Given the description of an element on the screen output the (x, y) to click on. 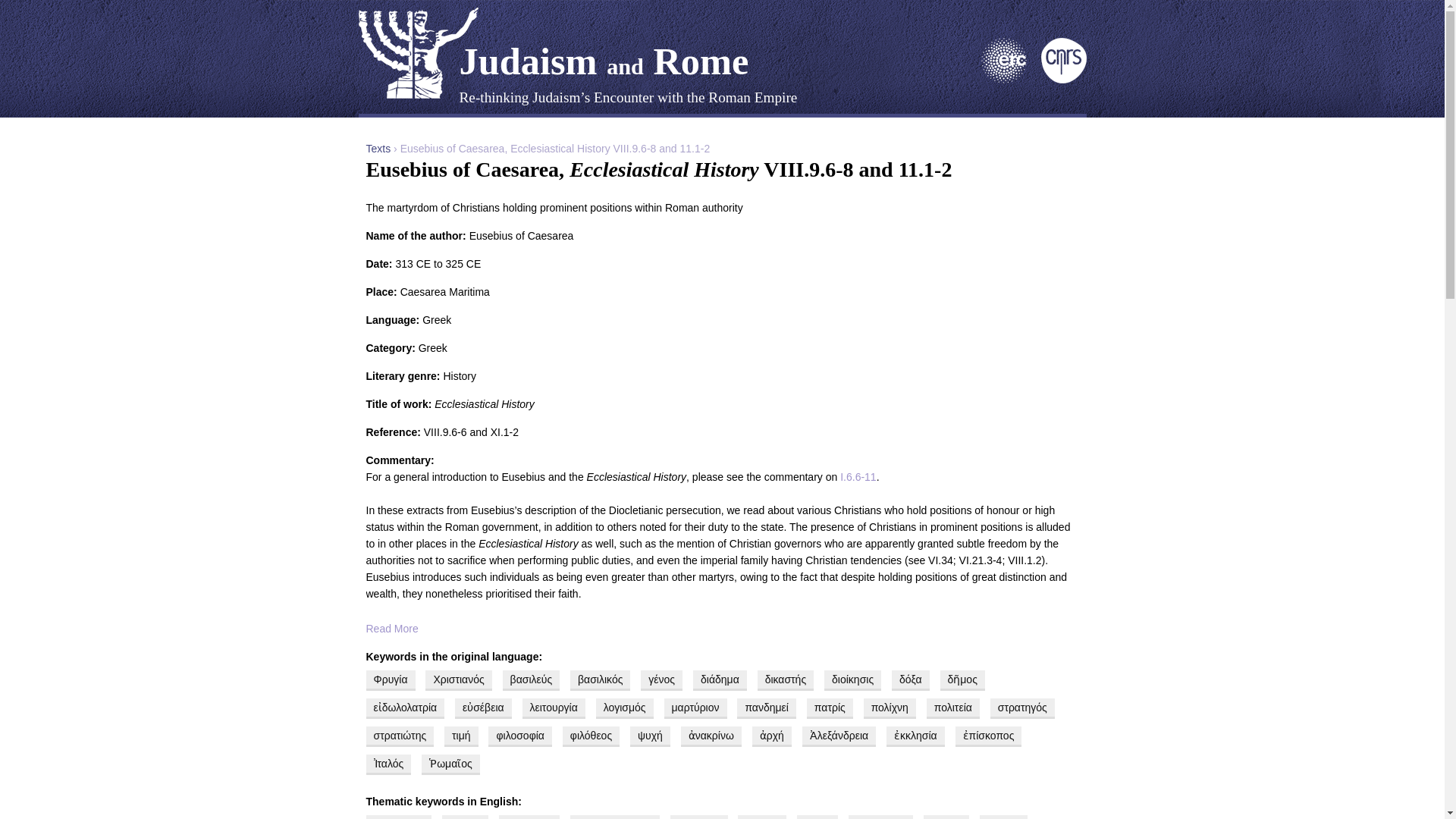
Home (604, 61)
Texts (377, 148)
CNRS: Centre national de la recherche scientifique (1063, 79)
Home (417, 52)
ERC: European Research Council (1003, 79)
Judaism and Rome (604, 61)
I.6.6-11 (858, 476)
Read More (721, 628)
